Given the description of an element on the screen output the (x, y) to click on. 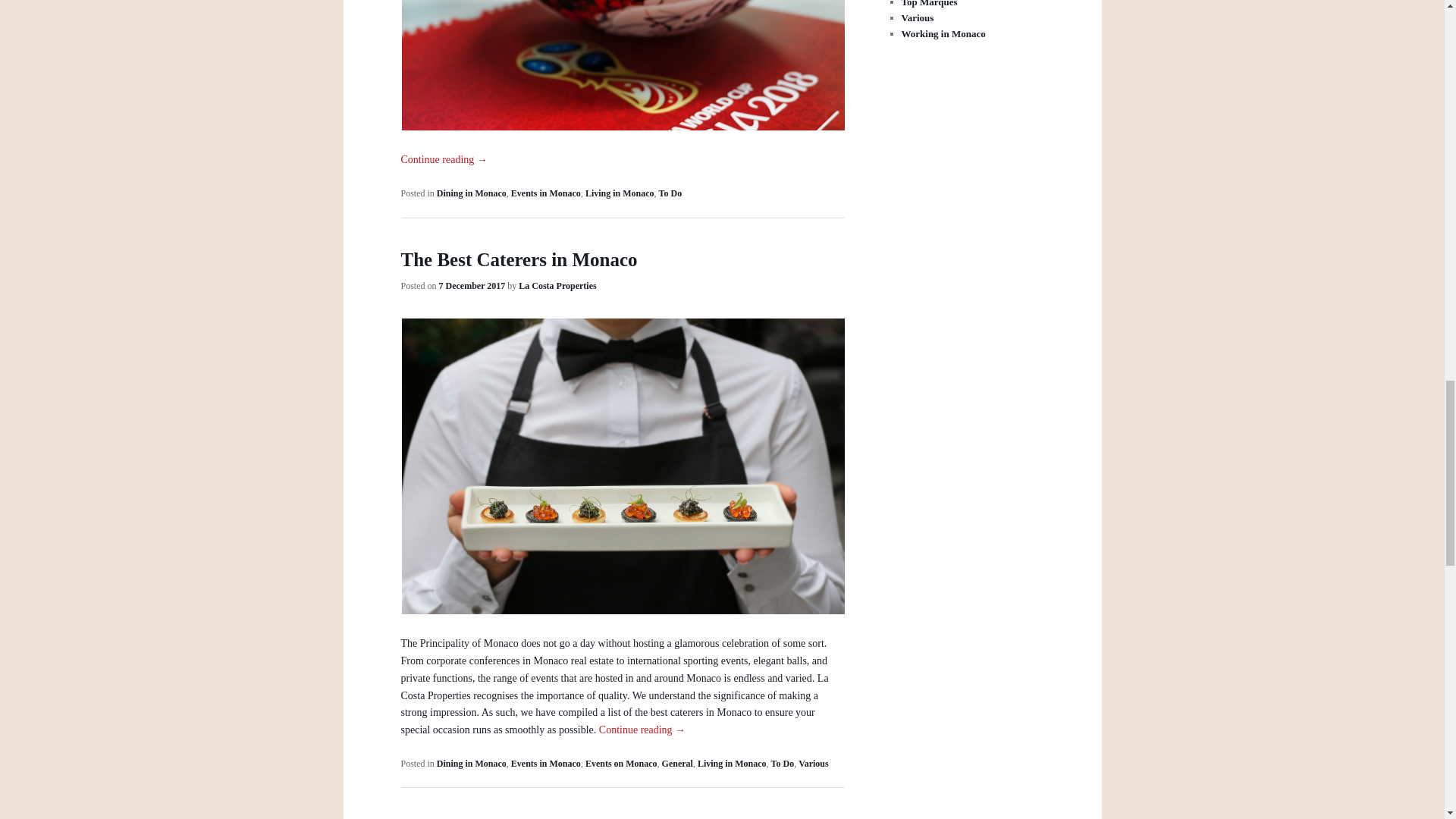
To Do (670, 193)
Various (812, 763)
Permalink to The Best Caterers in Monaco (518, 259)
Dining in Monaco (471, 763)
Events on Monaco (621, 763)
The Best Caterers in Monaco (518, 259)
Dining in Monaco (471, 193)
La Costa Properties (556, 285)
Living in Monaco (732, 763)
To Do (782, 763)
7 December 2017 (472, 285)
12 h 17 min (472, 285)
Monaco real estate (572, 660)
Events in Monaco (545, 193)
View all posts by La Costa Properties (556, 285)
